Given the description of an element on the screen output the (x, y) to click on. 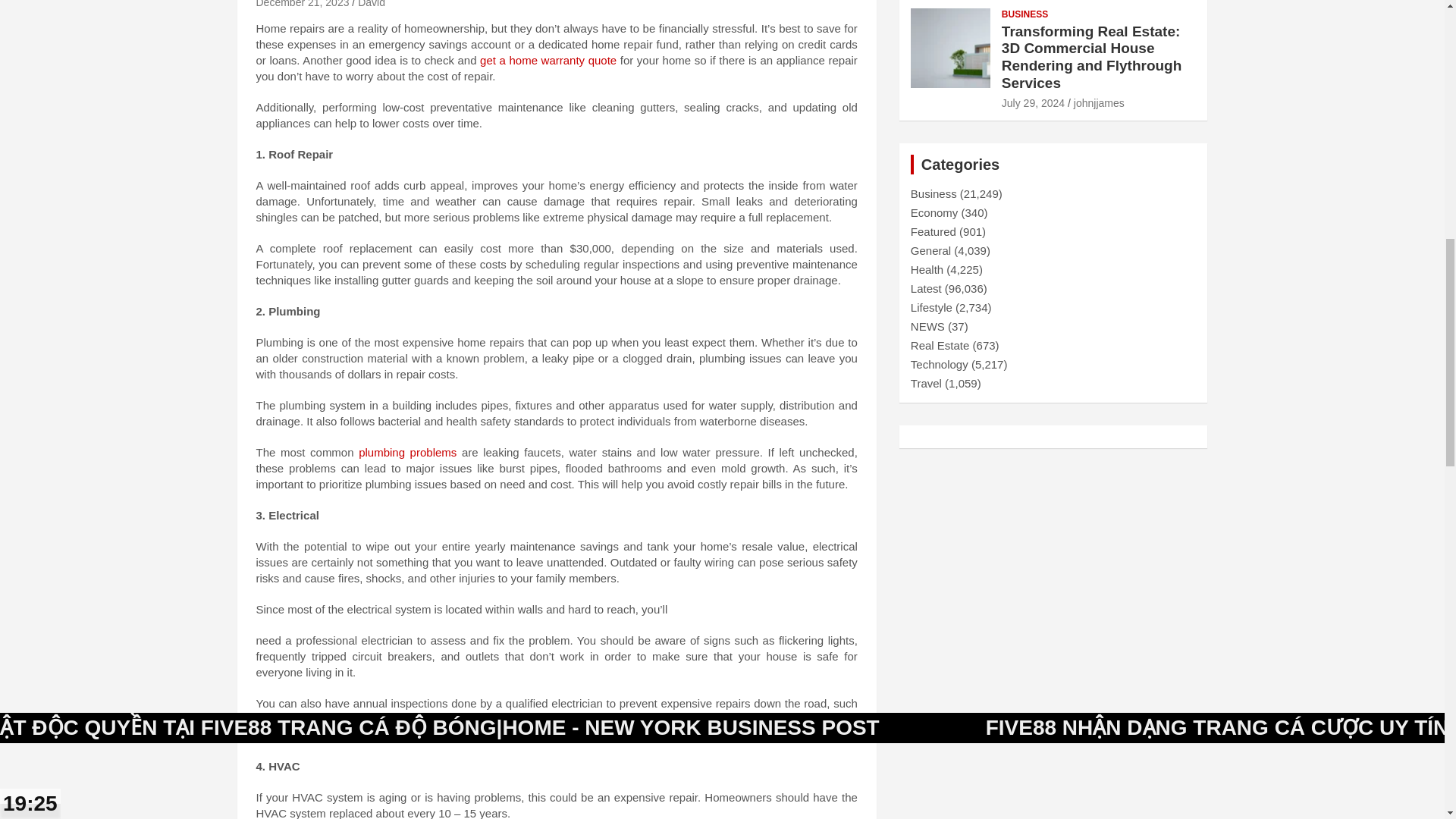
plumbing problems (407, 451)
get a home warranty quote (547, 60)
December 21, 2023 (302, 4)
David (371, 4)
